Given the description of an element on the screen output the (x, y) to click on. 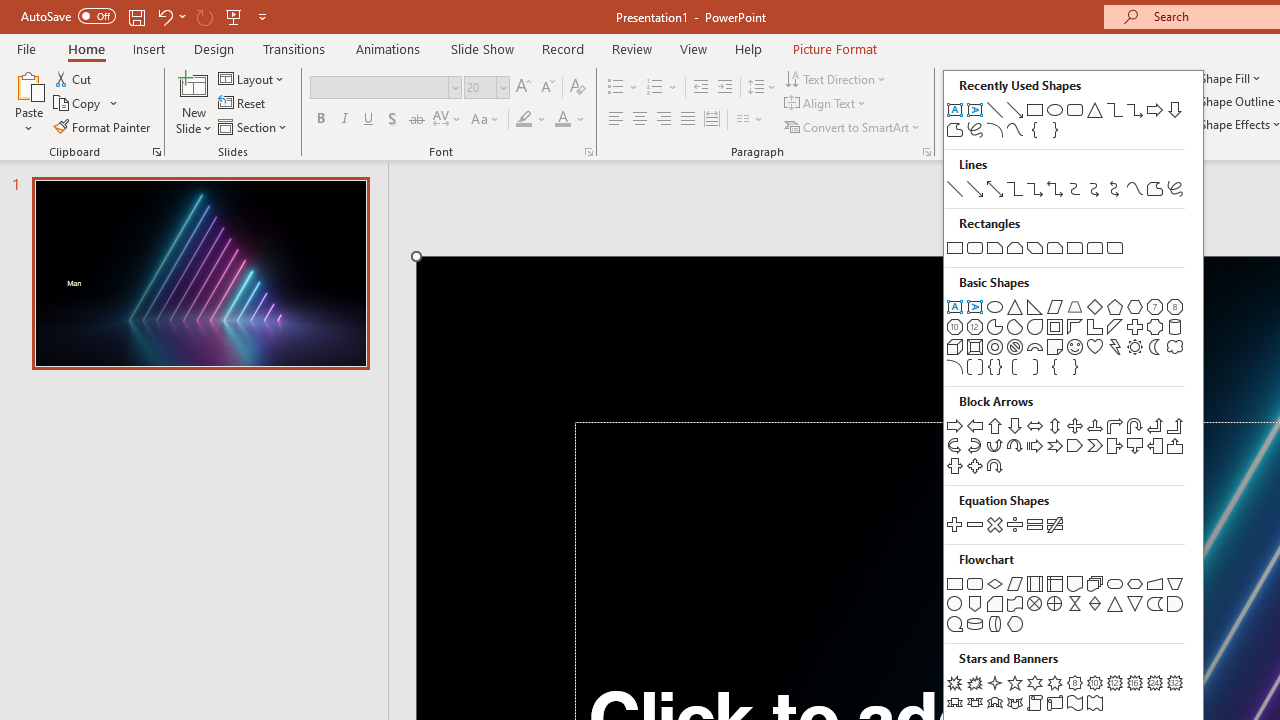
System (10, 11)
Numbering (654, 87)
Columns (750, 119)
Slide Show (481, 48)
Bullets (623, 87)
Animations (388, 48)
Section (254, 126)
Bullets (616, 87)
Text Highlight Color (531, 119)
Redo (204, 15)
Decrease Font Size (547, 87)
Font (379, 87)
Undo (170, 15)
